Given the description of an element on the screen output the (x, y) to click on. 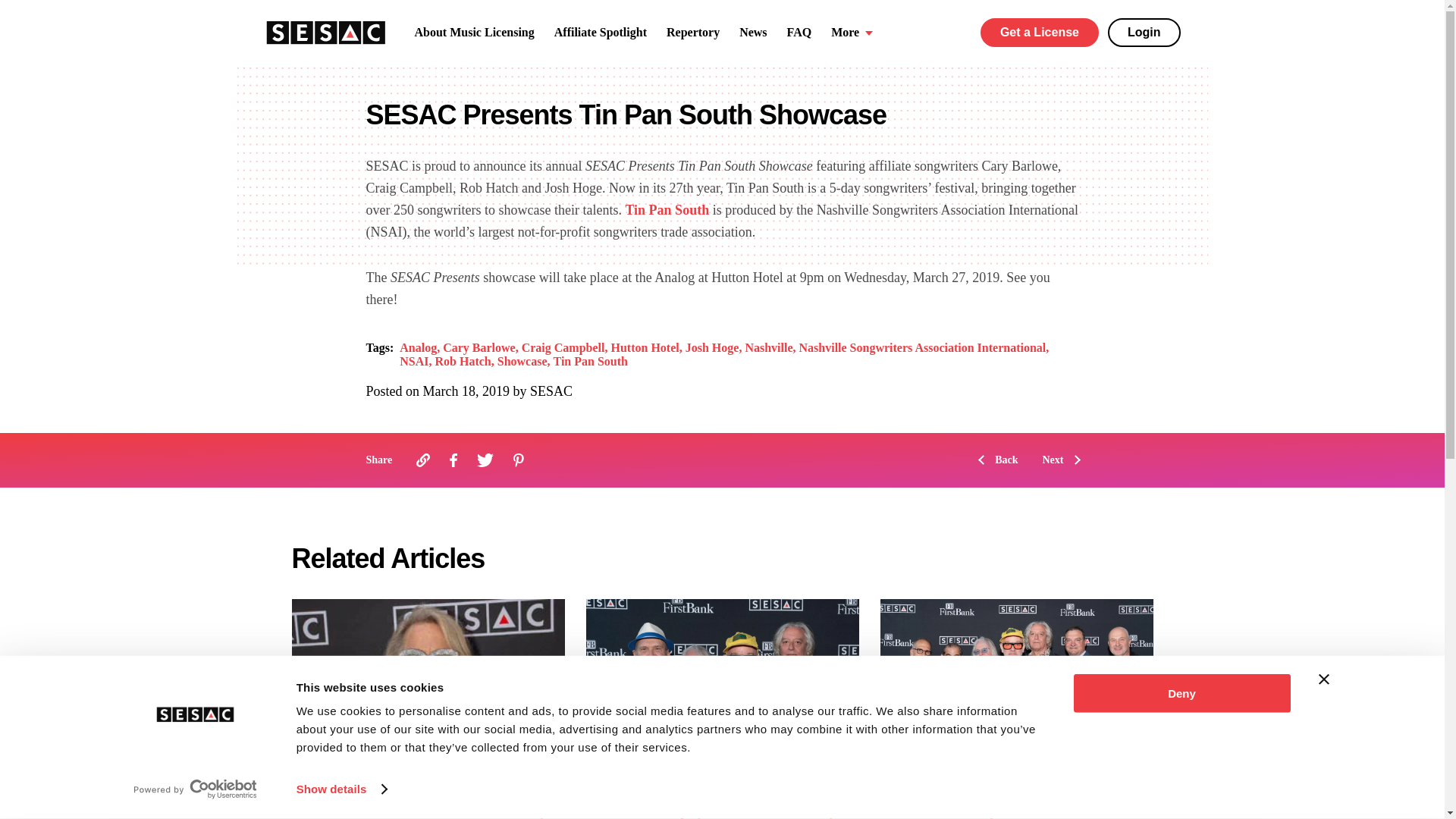
Show details (341, 789)
